Given the description of an element on the screen output the (x, y) to click on. 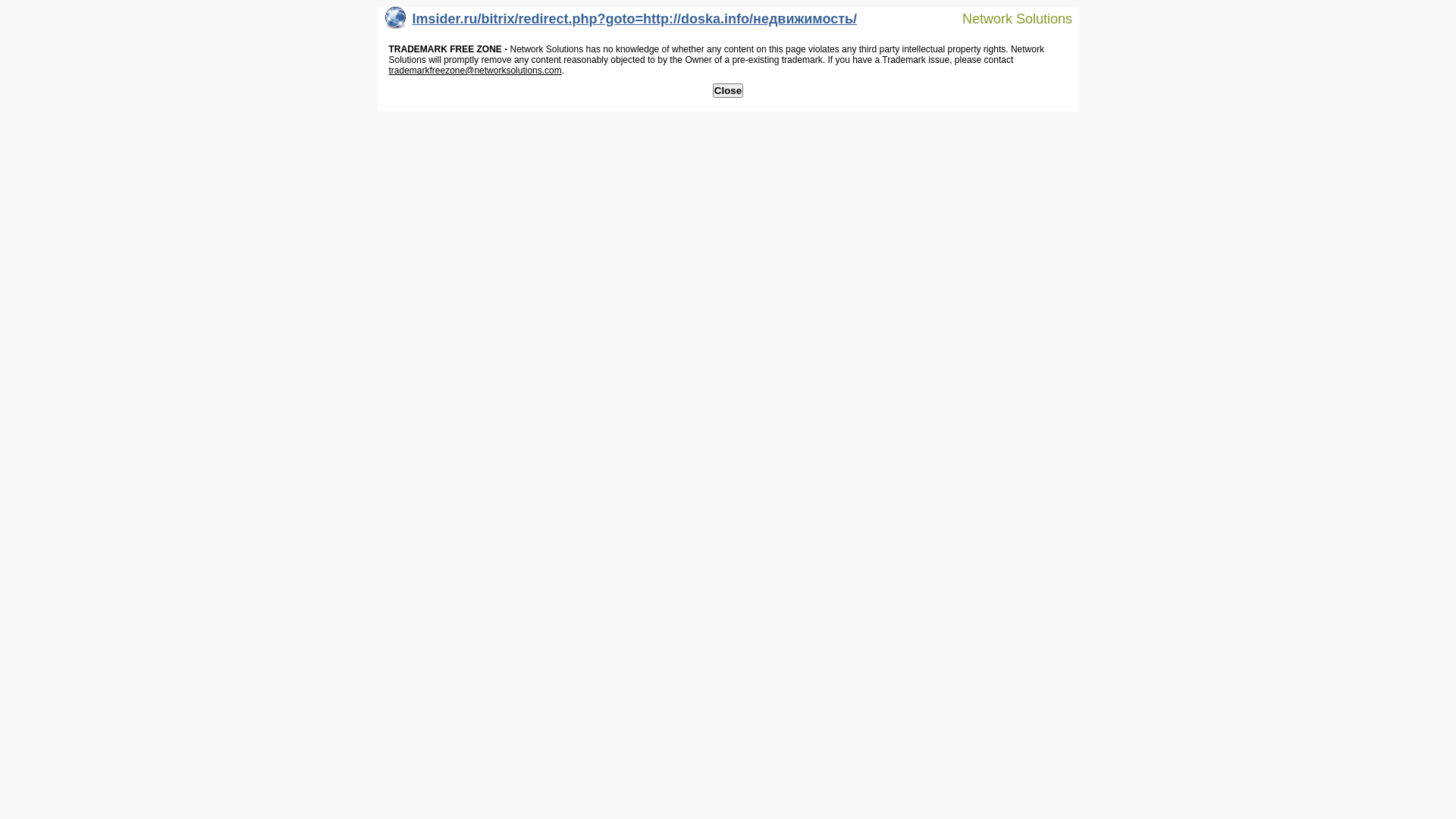
trademarkfreezone@networksolutions.com Element type: text (474, 70)
Network Solutions Element type: text (1007, 17)
Close Element type: text (727, 90)
